Given the description of an element on the screen output the (x, y) to click on. 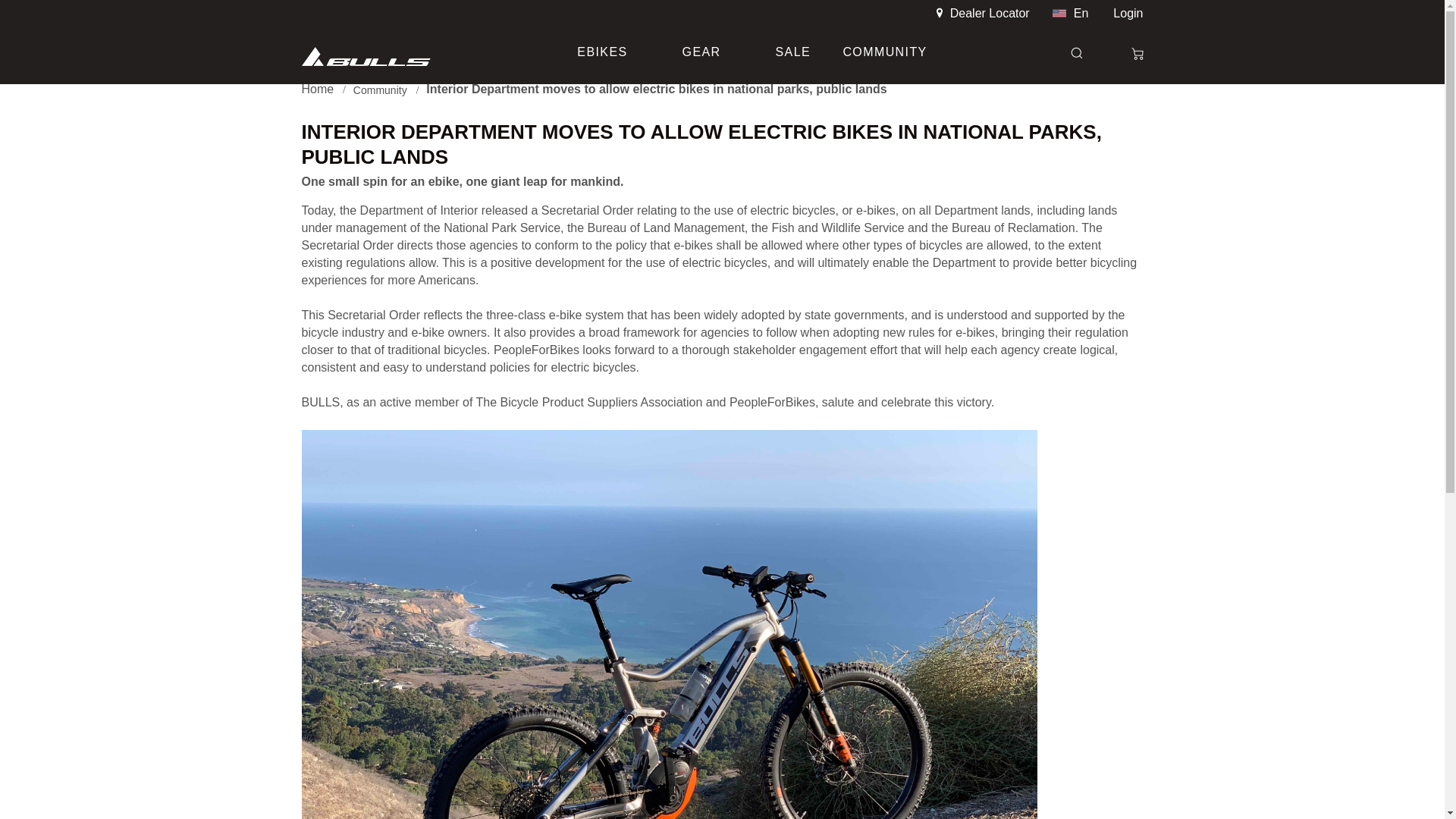
My Cart (1125, 54)
Dealer Locator (988, 12)
Login (1122, 12)
BULLS eBIKES (379, 56)
EBIKES (604, 51)
GEAR (704, 51)
